Given the description of an element on the screen output the (x, y) to click on. 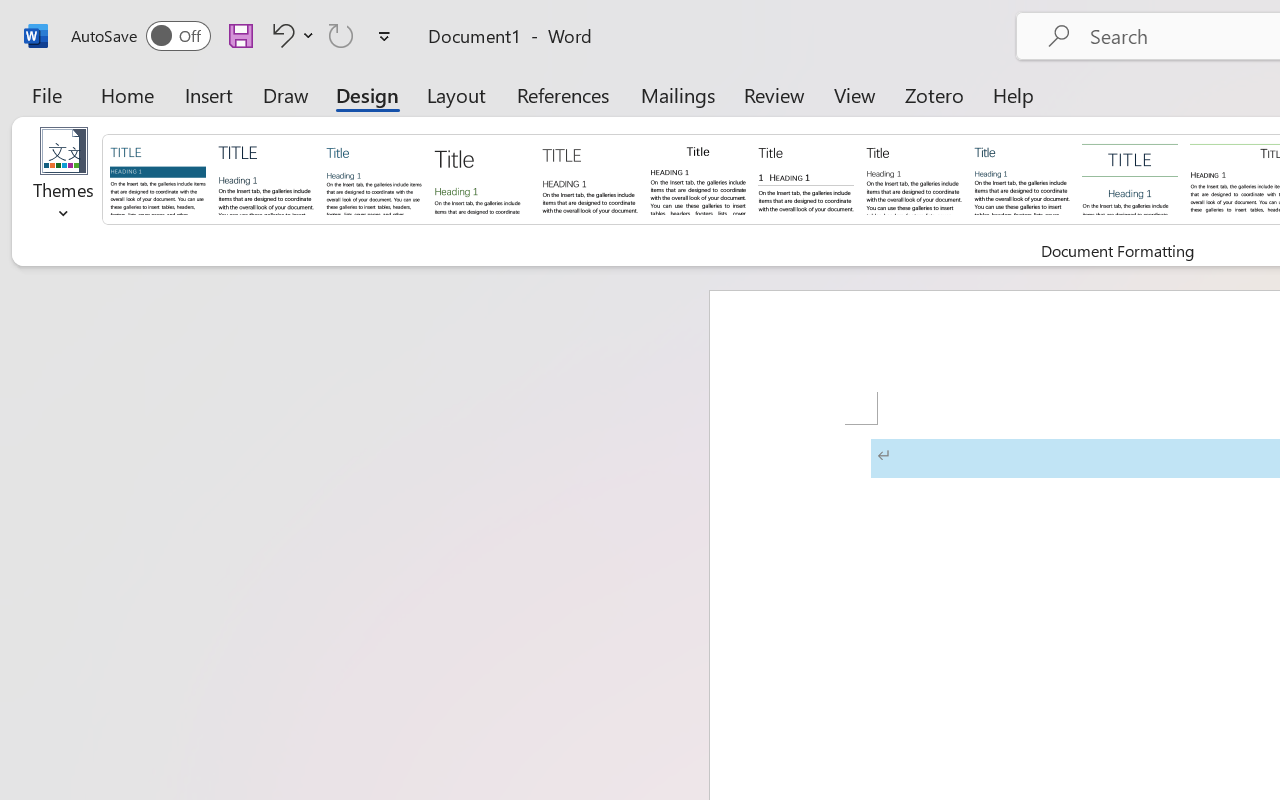
Undo Apply Quick Style (290, 35)
Basic (Simple) (373, 178)
